Given the description of an element on the screen output the (x, y) to click on. 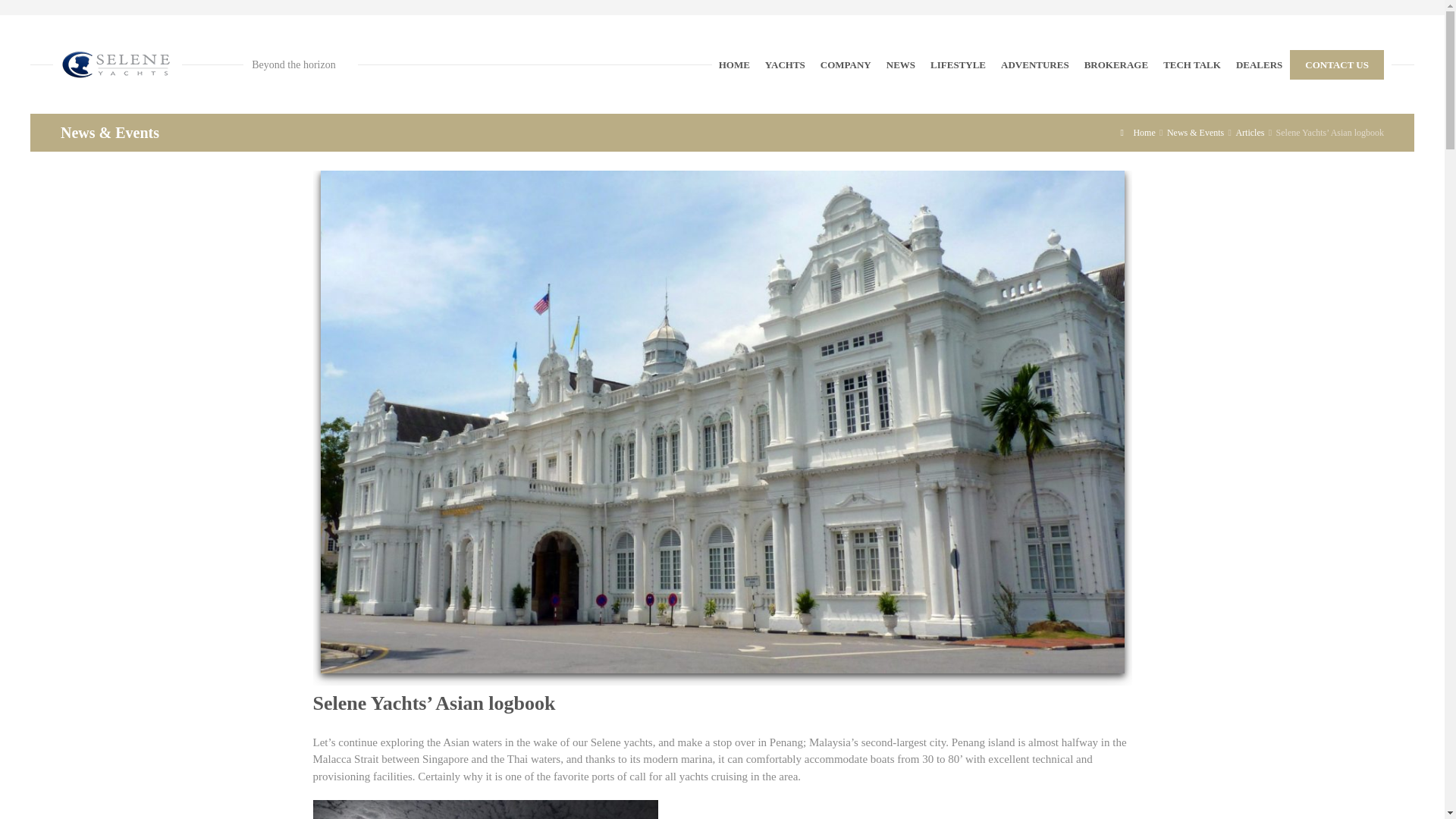
HOME (734, 64)
YACHTS (784, 64)
COMPANY (845, 64)
Selene Ocean Yachts (117, 64)
